Given the description of an element on the screen output the (x, y) to click on. 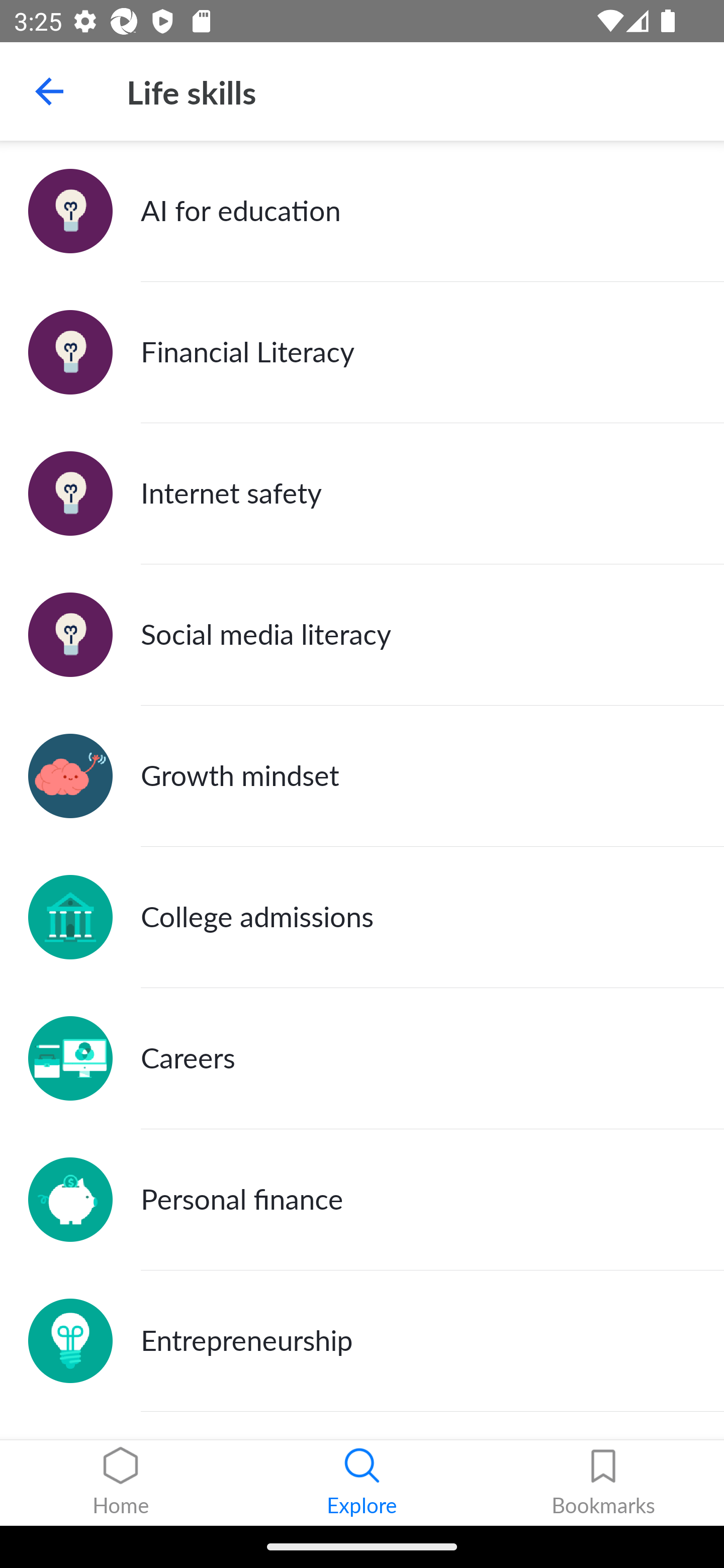
Navigate up (49, 91)
AI for education (362, 211)
Financial Literacy (362, 352)
Internet safety (362, 493)
Social media literacy (362, 634)
Growth mindset (362, 775)
College admissions (362, 916)
Careers (362, 1057)
Personal finance (362, 1199)
Entrepreneurship (362, 1340)
Home (120, 1482)
Explore (361, 1482)
Bookmarks (603, 1482)
